Given the description of an element on the screen output the (x, y) to click on. 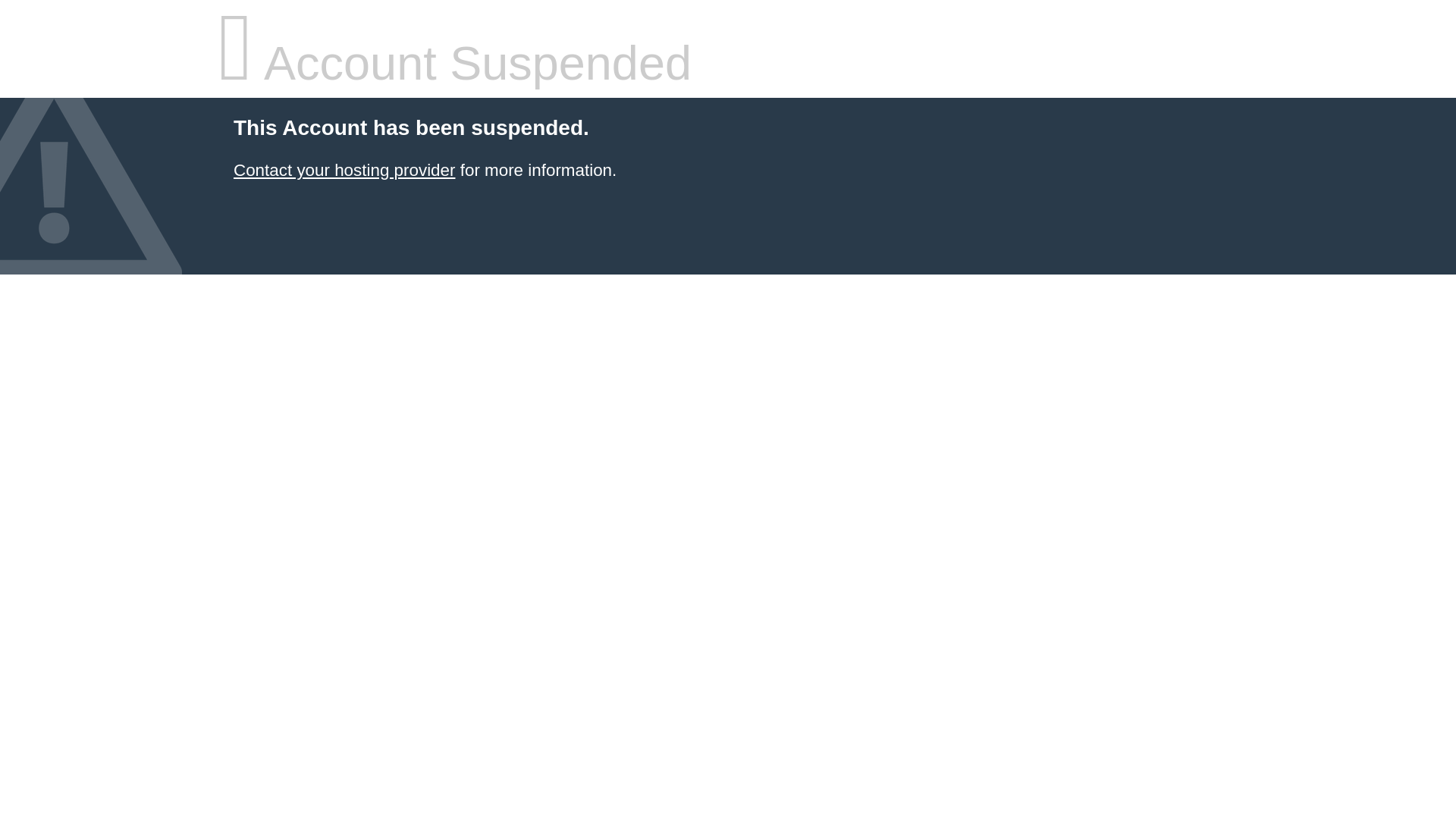
Contact your hosting provider (343, 169)
